Given the description of an element on the screen output the (x, y) to click on. 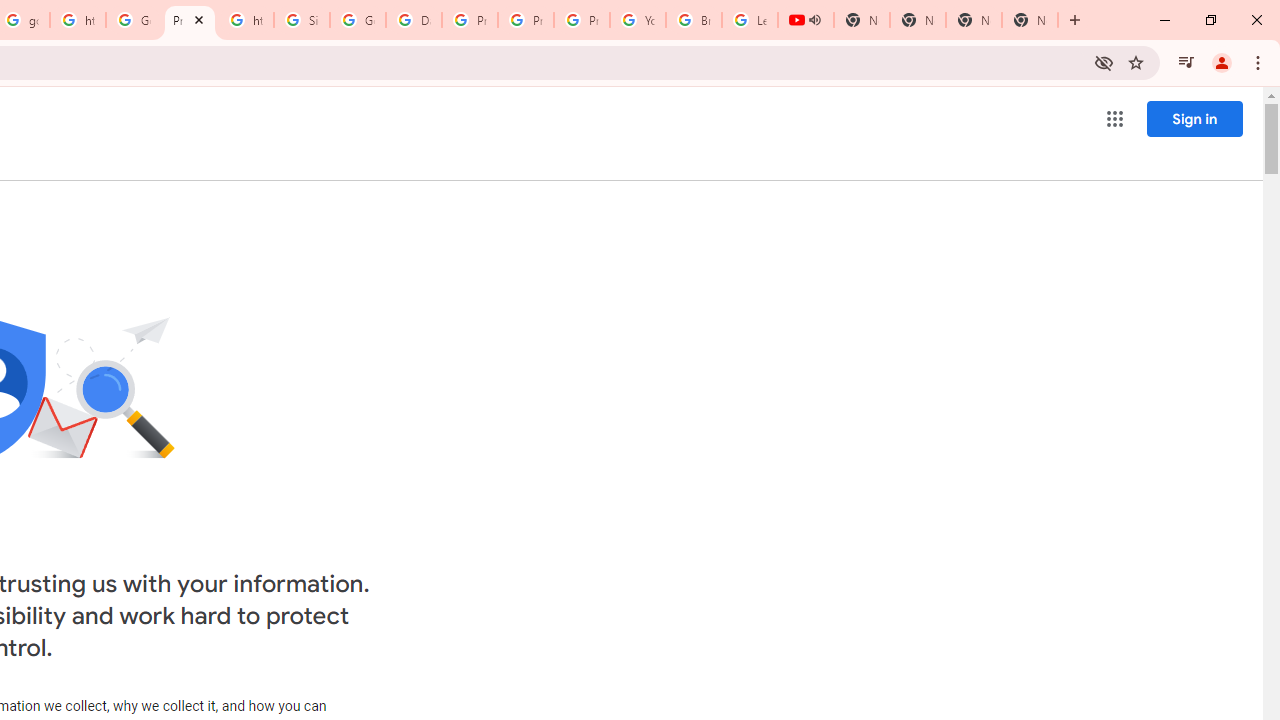
Privacy Help Center - Policies Help (525, 20)
Mute tab (814, 20)
